Given the description of an element on the screen output the (x, y) to click on. 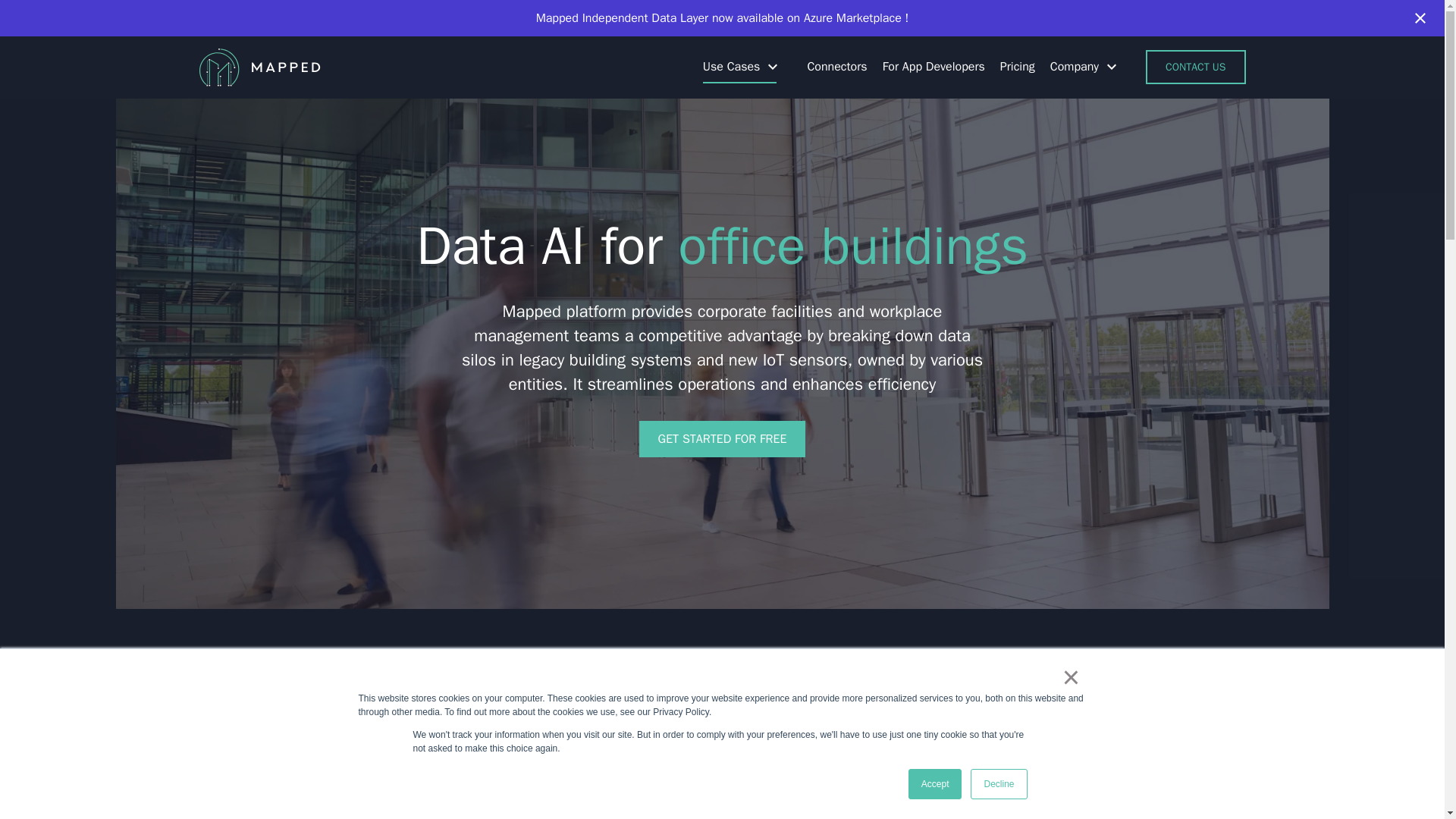
Decline (998, 784)
Connectors (829, 67)
For App Developers (926, 67)
Accept (935, 784)
Pricing (1010, 67)
GET STARTED FOR FREE (722, 438)
